Given the description of an element on the screen output the (x, y) to click on. 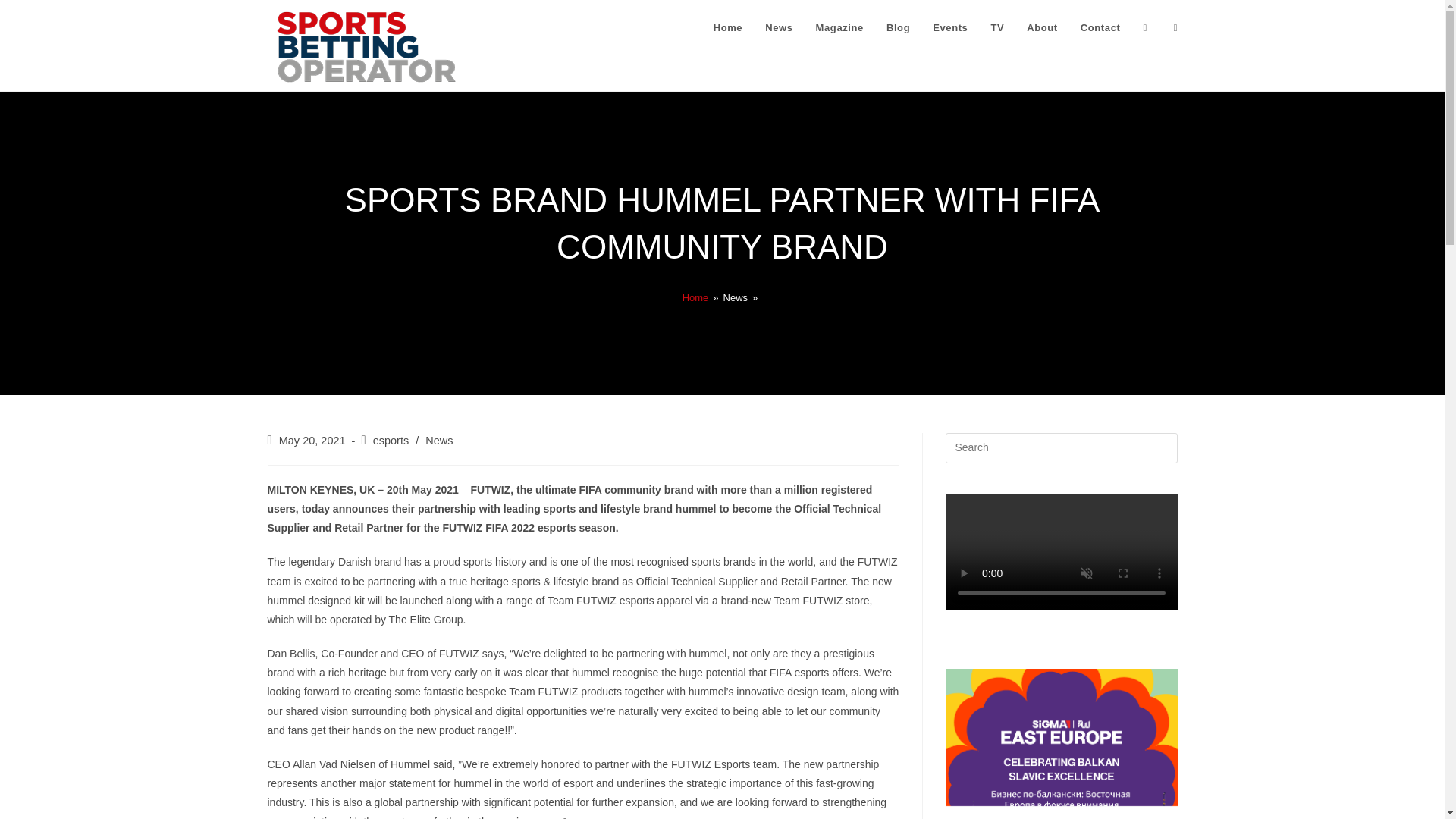
Home (727, 28)
TV (996, 28)
News (778, 28)
Home (695, 297)
Events (949, 28)
esports (390, 440)
News (438, 440)
Blog (898, 28)
About (1041, 28)
Contact (1100, 28)
News (735, 297)
Magazine (840, 28)
